Given the description of an element on the screen output the (x, y) to click on. 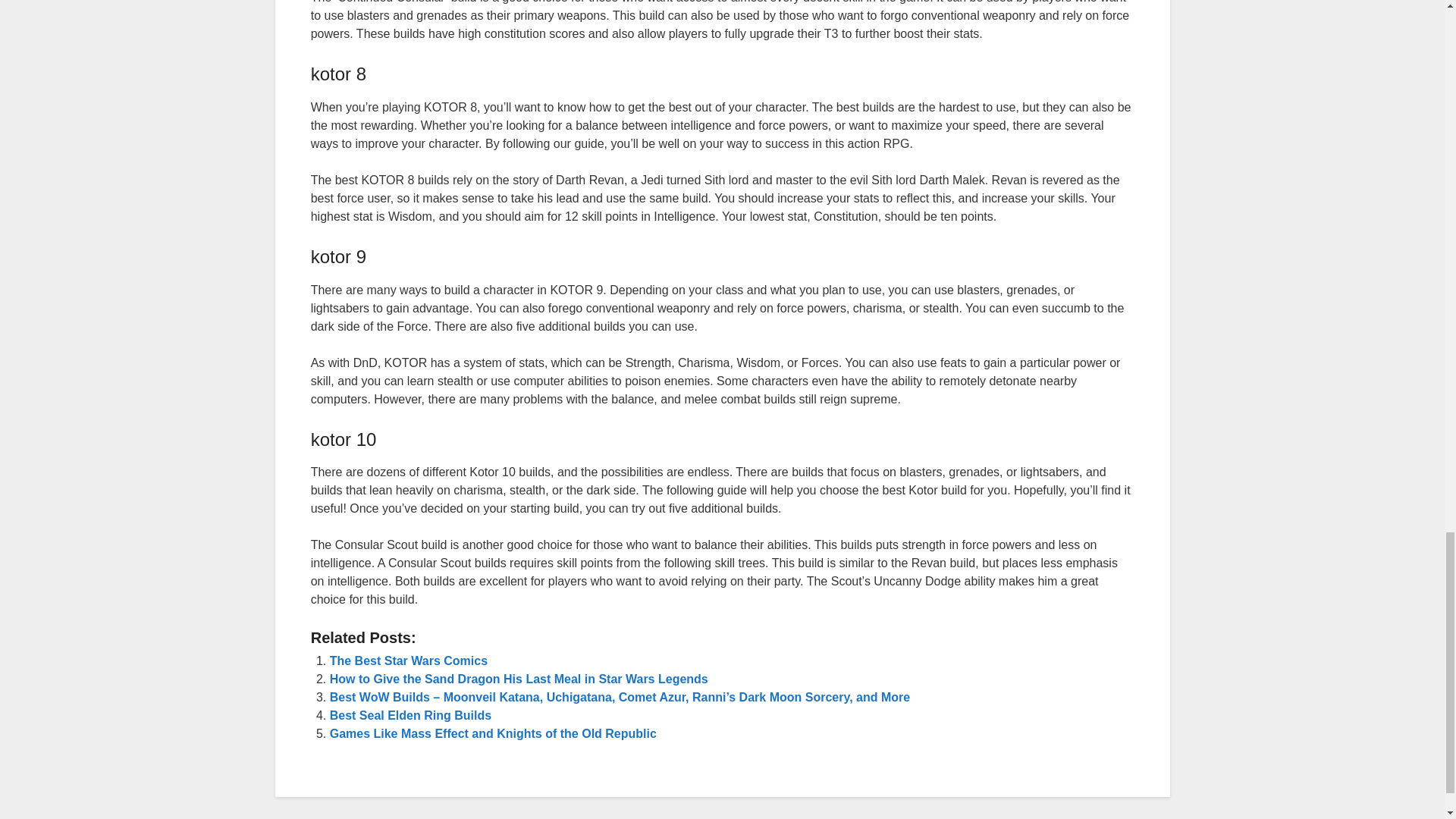
Games Like Mass Effect and Knights of the Old Republic (493, 733)
Games Like Mass Effect and Knights of the Old Republic (493, 733)
The Best Star Wars Comics (408, 660)
Best Seal Elden Ring Builds (411, 715)
Best Seal Elden Ring Builds (411, 715)
The Best Star Wars Comics (408, 660)
